Given the description of an element on the screen output the (x, y) to click on. 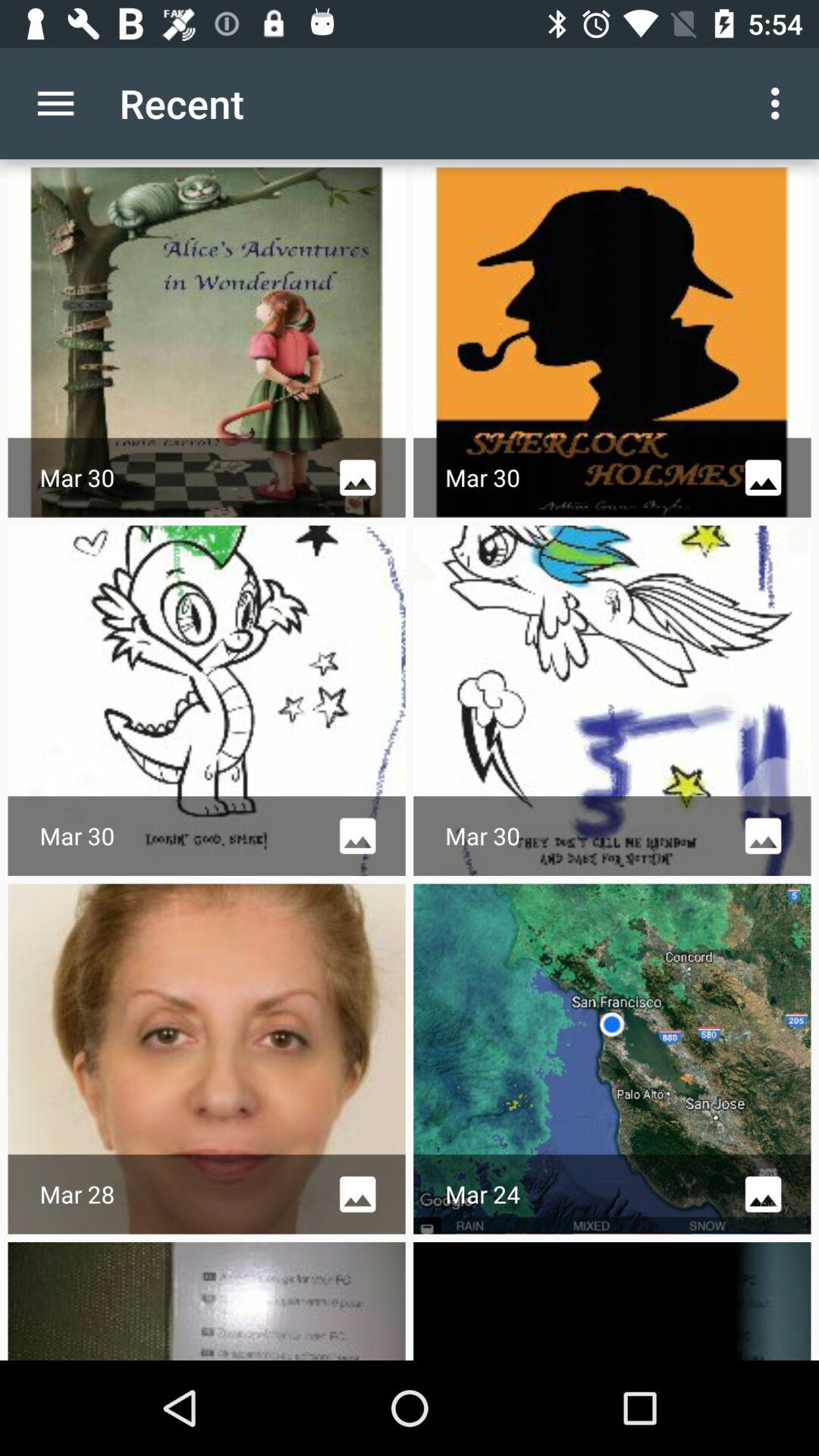
choose icon to the right of the recent item (779, 103)
